Given the description of an element on the screen output the (x, y) to click on. 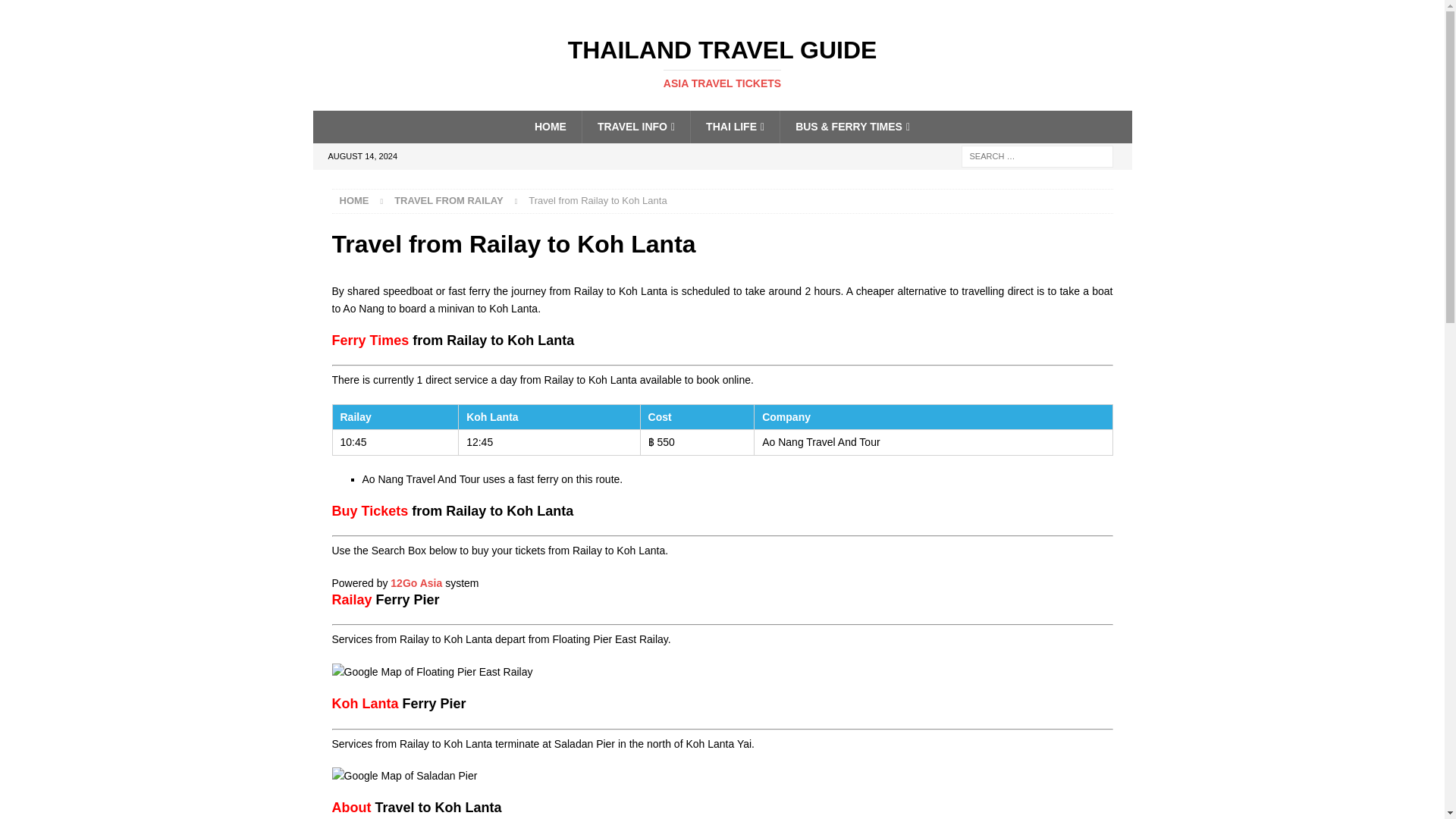
Travel from Railay (448, 200)
Home (722, 63)
Thailand Travel Guide (354, 200)
